Given the description of an element on the screen output the (x, y) to click on. 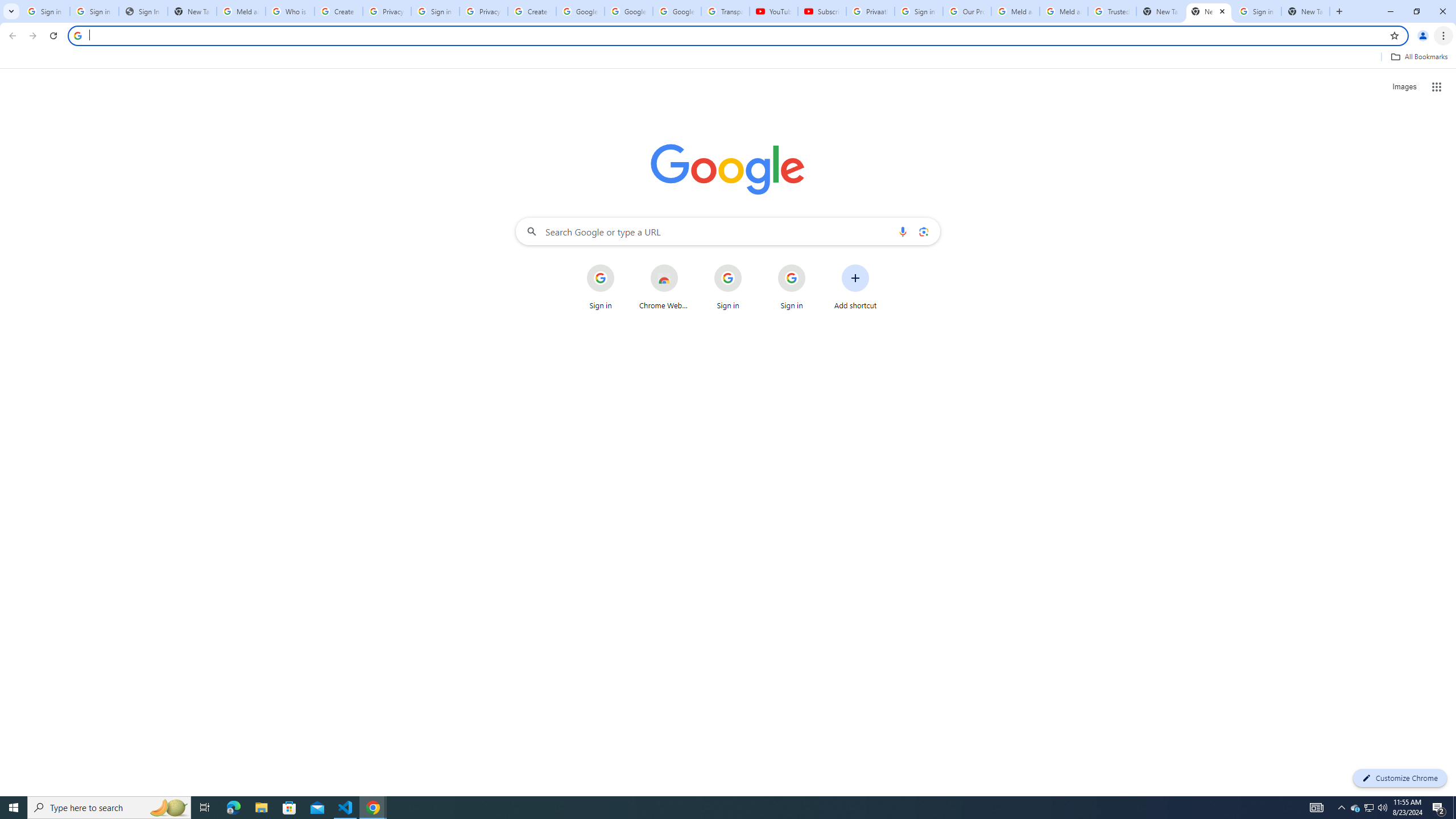
Sign in - Google Accounts (1257, 11)
Back (10, 35)
Chrome Web Store (663, 287)
Sign in - Google Accounts (435, 11)
Add shortcut (855, 287)
Search icon (77, 35)
Restore (1416, 11)
New Tab (1338, 11)
Who is my administrator? - Google Account Help (290, 11)
Create your Google Account (338, 11)
Subscriptions - YouTube (822, 11)
Forward (32, 35)
